Given the description of an element on the screen output the (x, y) to click on. 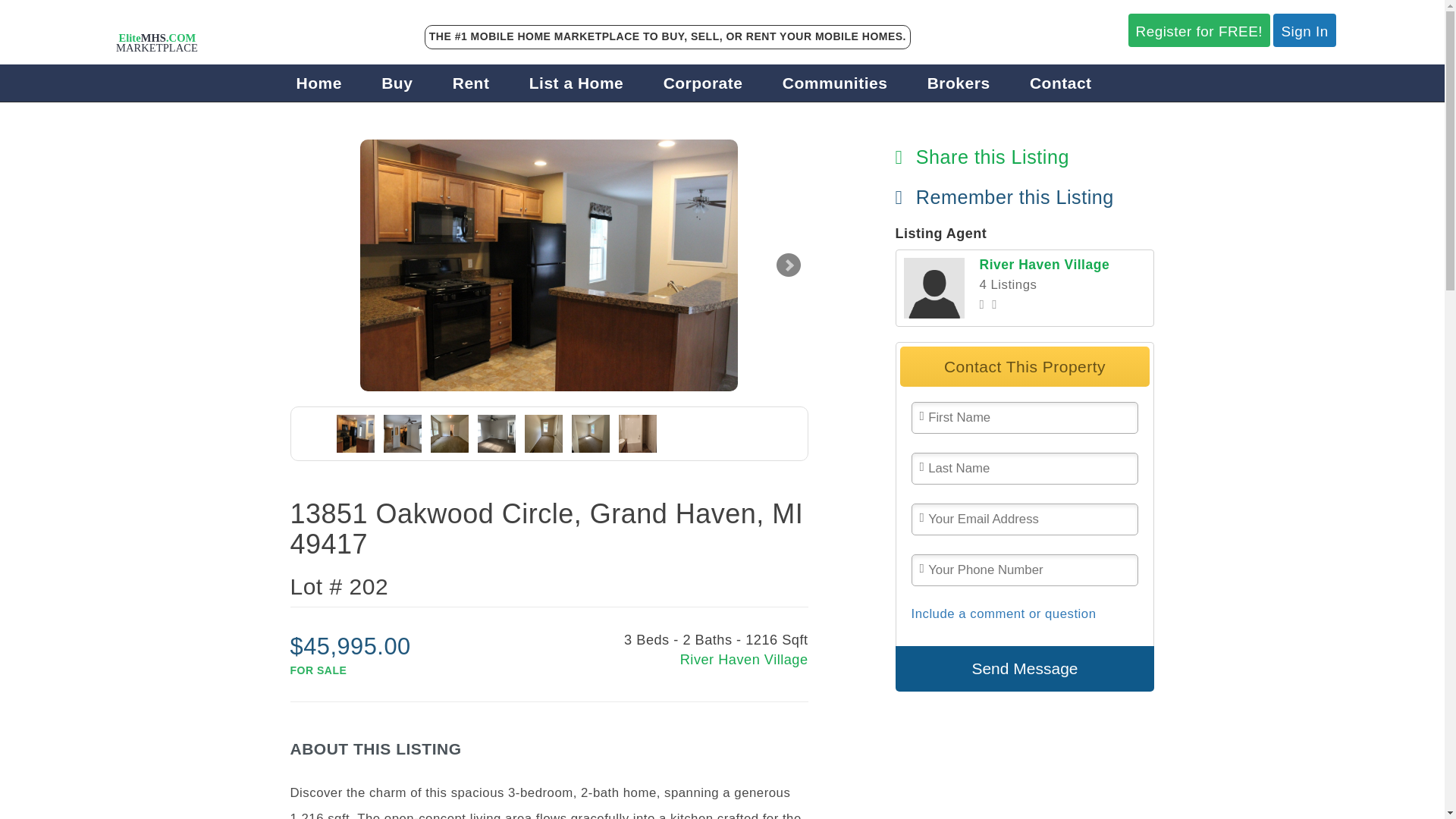
Register for FREE! (1199, 29)
Sign In (1303, 29)
Buy (396, 82)
River Haven Village (678, 659)
Share this Listing (981, 156)
4 Listings (1007, 284)
Brokers (958, 82)
Corporate (703, 82)
Communities (835, 82)
Rent (470, 82)
Home (319, 82)
River Haven Village (1044, 264)
Remember this Listing (1004, 197)
River Haven Village (933, 287)
List a Home (577, 82)
